Given the description of an element on the screen output the (x, y) to click on. 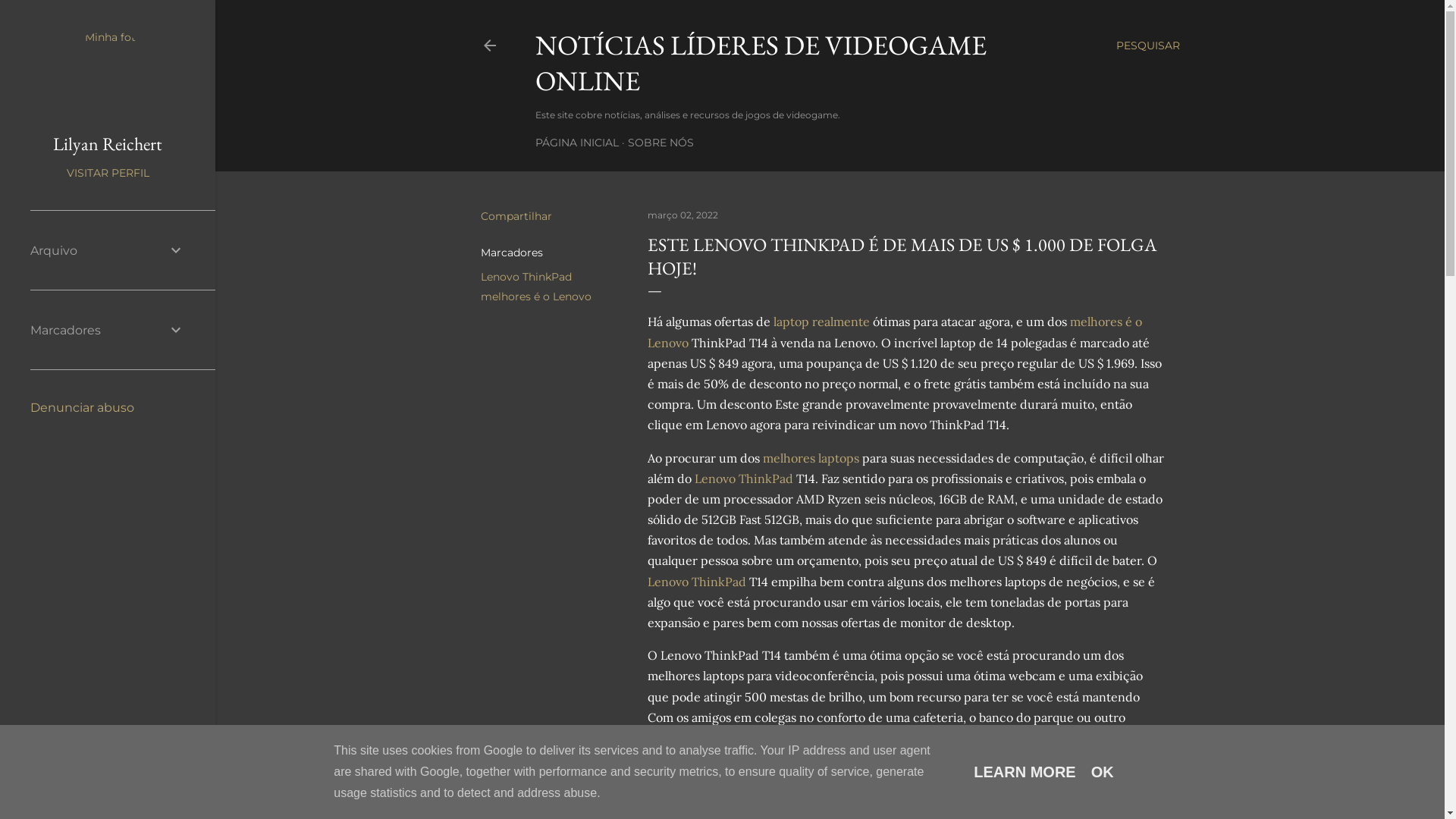
Lenovo ThinkPad Element type: text (525, 276)
Lenovo ThinkPad Element type: text (743, 478)
Lilyan Reichert Element type: text (107, 143)
VISITAR PERFIL Element type: text (107, 172)
LEARN MORE Element type: text (1024, 771)
Lenovo ThinkPad Element type: text (696, 581)
melhores laptops Element type: text (810, 457)
Denunciar abuso Element type: text (82, 407)
Compartilhar Element type: text (516, 215)
OK Element type: text (1102, 771)
laptop realmente Element type: text (821, 321)
PESQUISAR Element type: text (1147, 45)
